Given the description of an element on the screen output the (x, y) to click on. 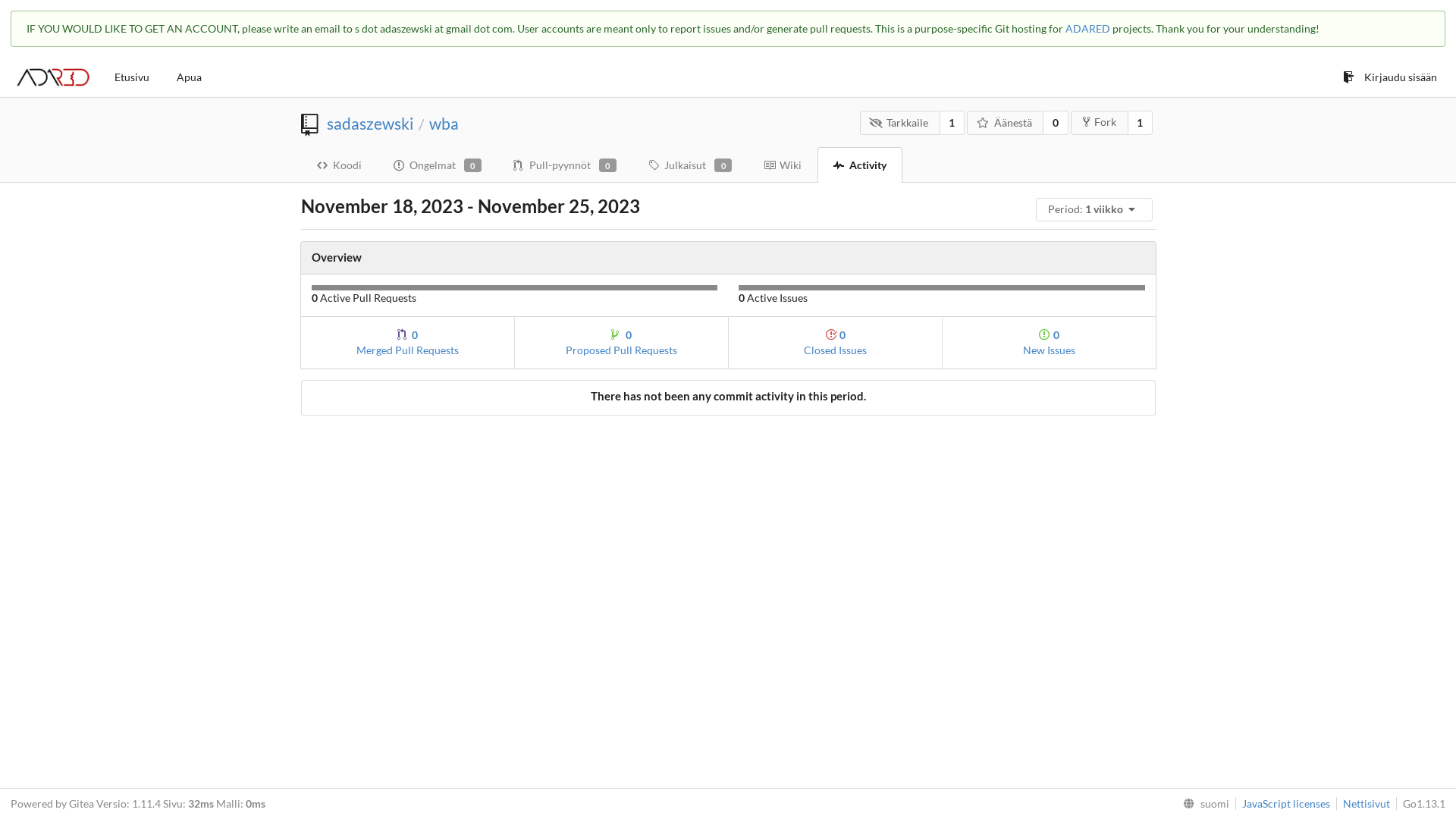
0 Element type: text (1055, 122)
Nettisivut Element type: text (1363, 803)
Julkaisut
0 Element type: text (689, 164)
Activity Element type: text (859, 164)
Etusivu Element type: text (131, 77)
wba Element type: text (443, 122)
Ongelmat
0 Element type: text (437, 164)
0
New Issues Element type: text (1048, 342)
1 Element type: text (1140, 122)
Koodi Element type: text (338, 164)
0
Merged Pull Requests Element type: text (406, 342)
Apua Element type: text (188, 77)
sadaszewski Element type: text (369, 122)
0
Proposed Pull Requests Element type: text (621, 342)
JavaScript licenses Element type: text (1282, 803)
Wiki Element type: text (782, 164)
0
Closed Issues Element type: text (834, 342)
ADARED Element type: text (1087, 27)
Fork Element type: text (1099, 122)
1 Element type: text (952, 122)
Tarkkaile Element type: text (899, 122)
